Given the description of an element on the screen output the (x, y) to click on. 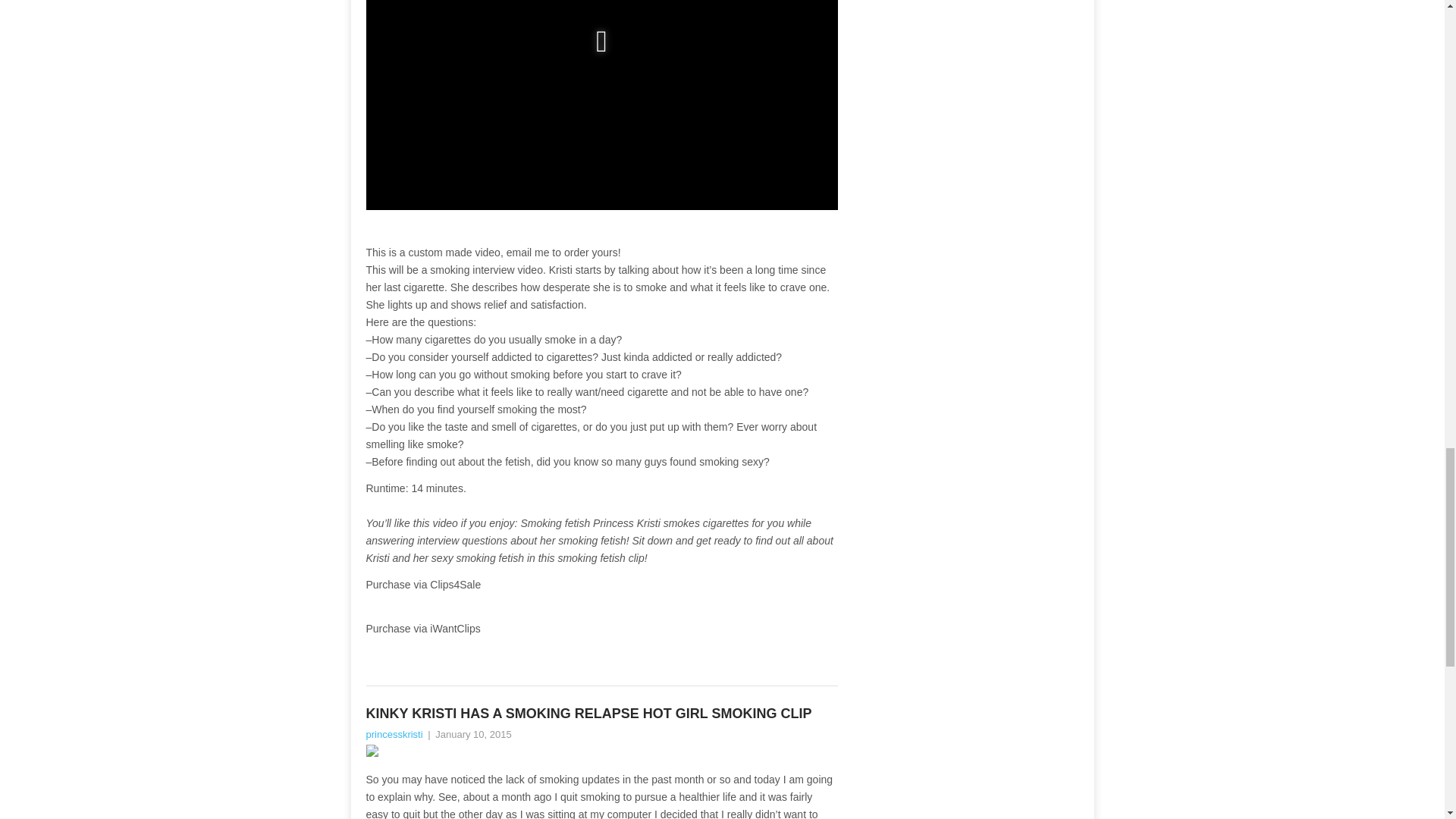
Posts by princesskristi (393, 734)
Kinky Kristi Has a Smoking Relapse Hot Girl Smoking Clip (601, 713)
